Given the description of an element on the screen output the (x, y) to click on. 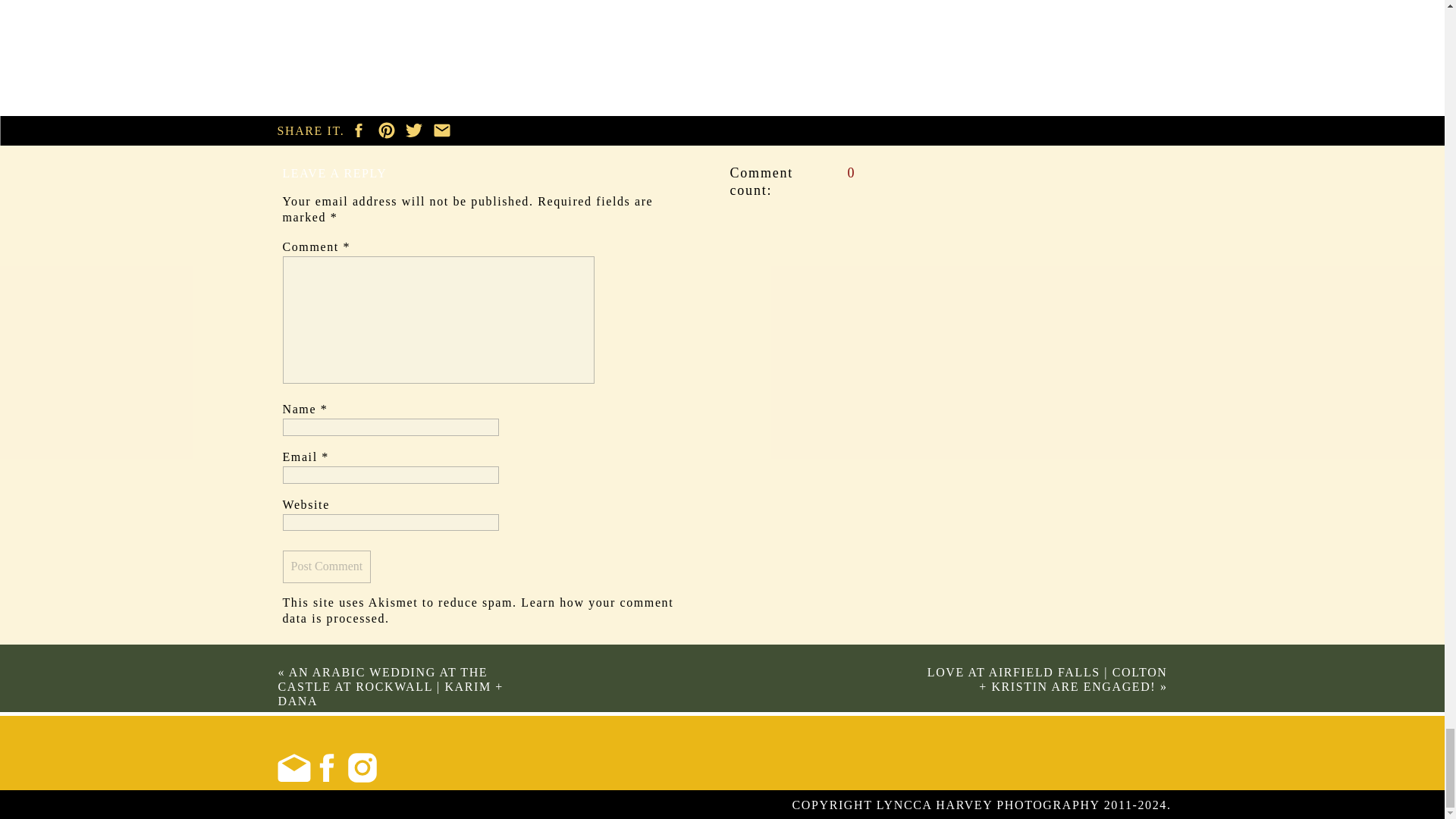
Post Comment (326, 566)
PORTFOLIO (423, 804)
HOME (296, 804)
Post Comment (326, 566)
CLIENTS (608, 804)
Learn how your comment data is processed (477, 610)
INFO (493, 804)
BLOG (544, 804)
ABOUT (351, 804)
CONTACT (687, 804)
